Given the description of an element on the screen output the (x, y) to click on. 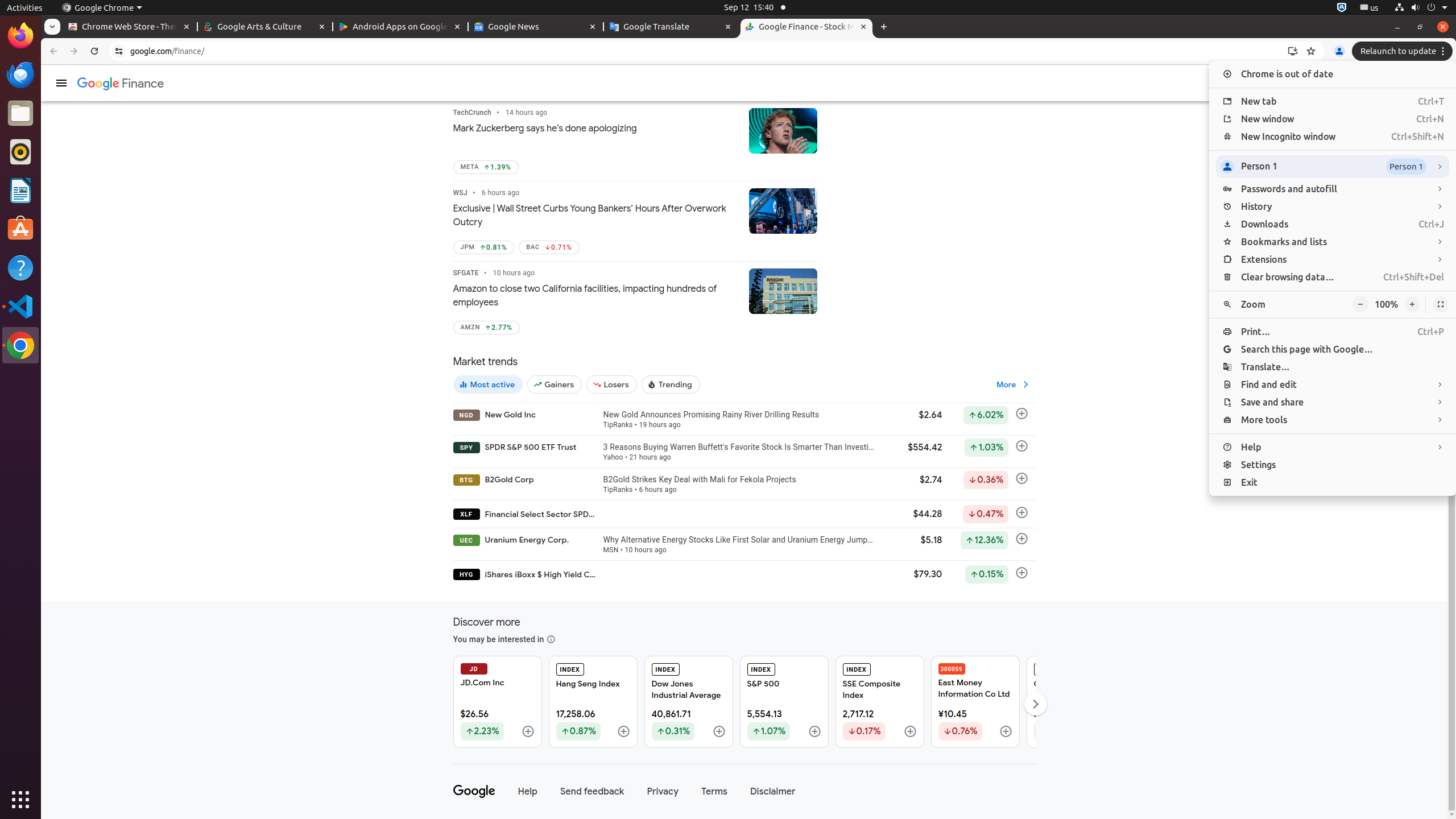
New window Ctrl+N Element type: menu-item (1332, 118)
Make Text Smaller Element type: menu-item (1360, 304)
Rhythmbox Element type: push-button (20, 151)
:1.21/StatusNotifierItem Element type: menu (1369, 7)
Extensions Element type: menu-item (1332, 259)
